Given the description of an element on the screen output the (x, y) to click on. 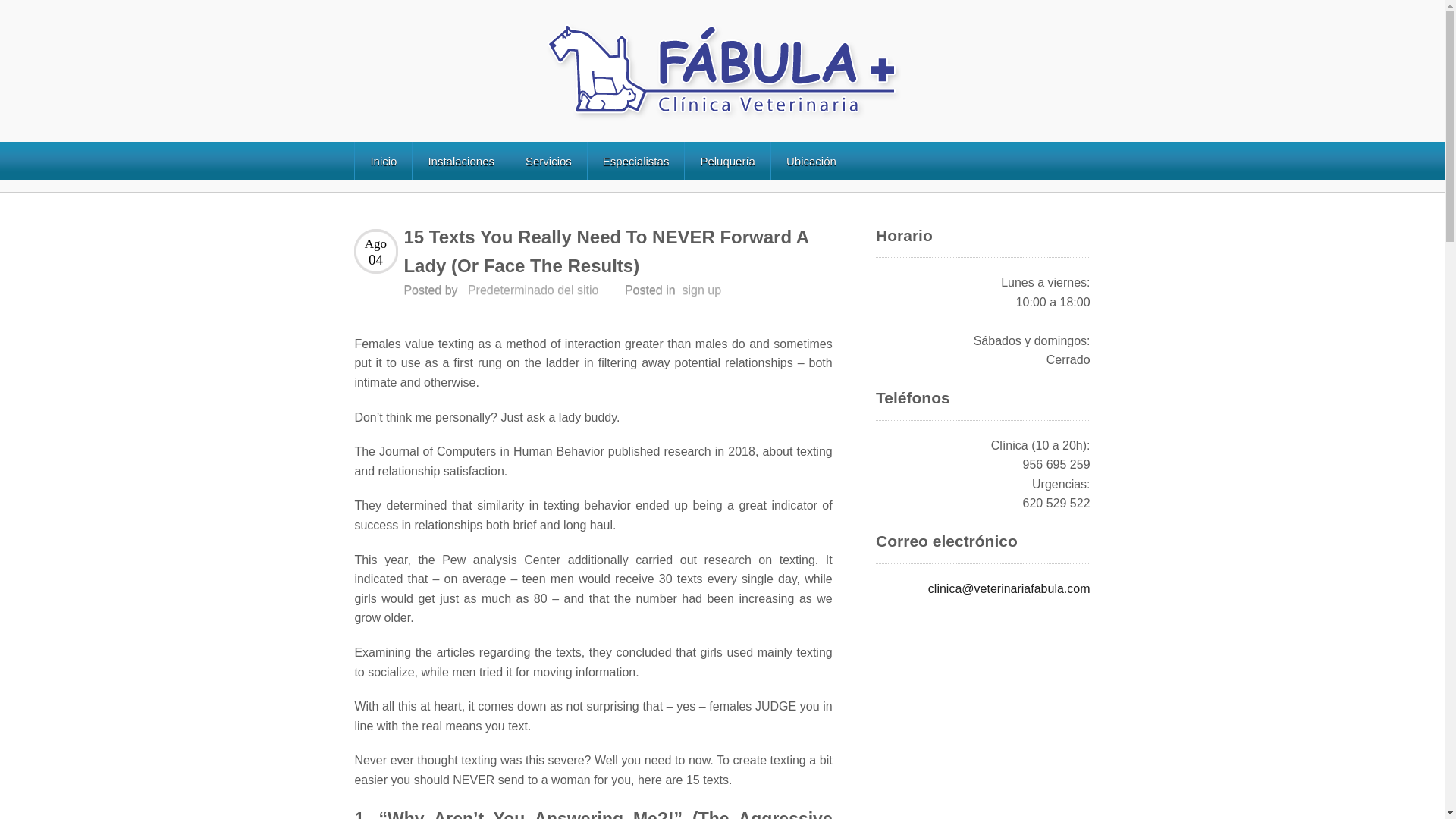
sign up (702, 289)
Especialistas (635, 160)
Instalaciones (460, 160)
Predeterminado del sitio (532, 289)
Inicio (382, 160)
Entradas de Predeterminado del sitio (532, 289)
Servicios (547, 160)
